Given the description of an element on the screen output the (x, y) to click on. 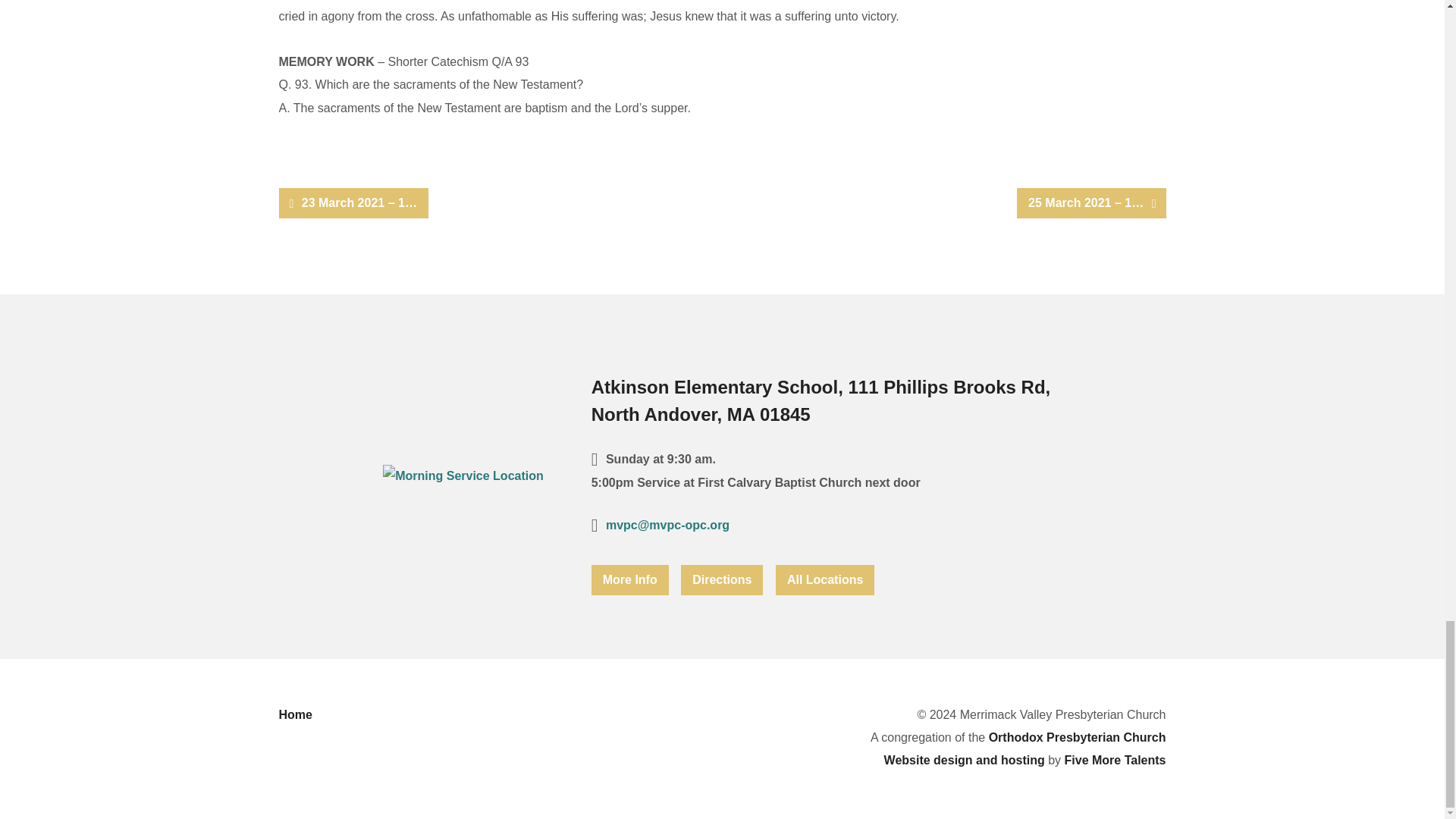
Five More Talents (1115, 759)
More Info (629, 580)
Home (296, 714)
Directions (721, 580)
Orthodox Presbyterian Church (1077, 737)
Morning Service Location (462, 475)
Website design and hosting (964, 759)
All Locations (825, 580)
